Given the description of an element on the screen output the (x, y) to click on. 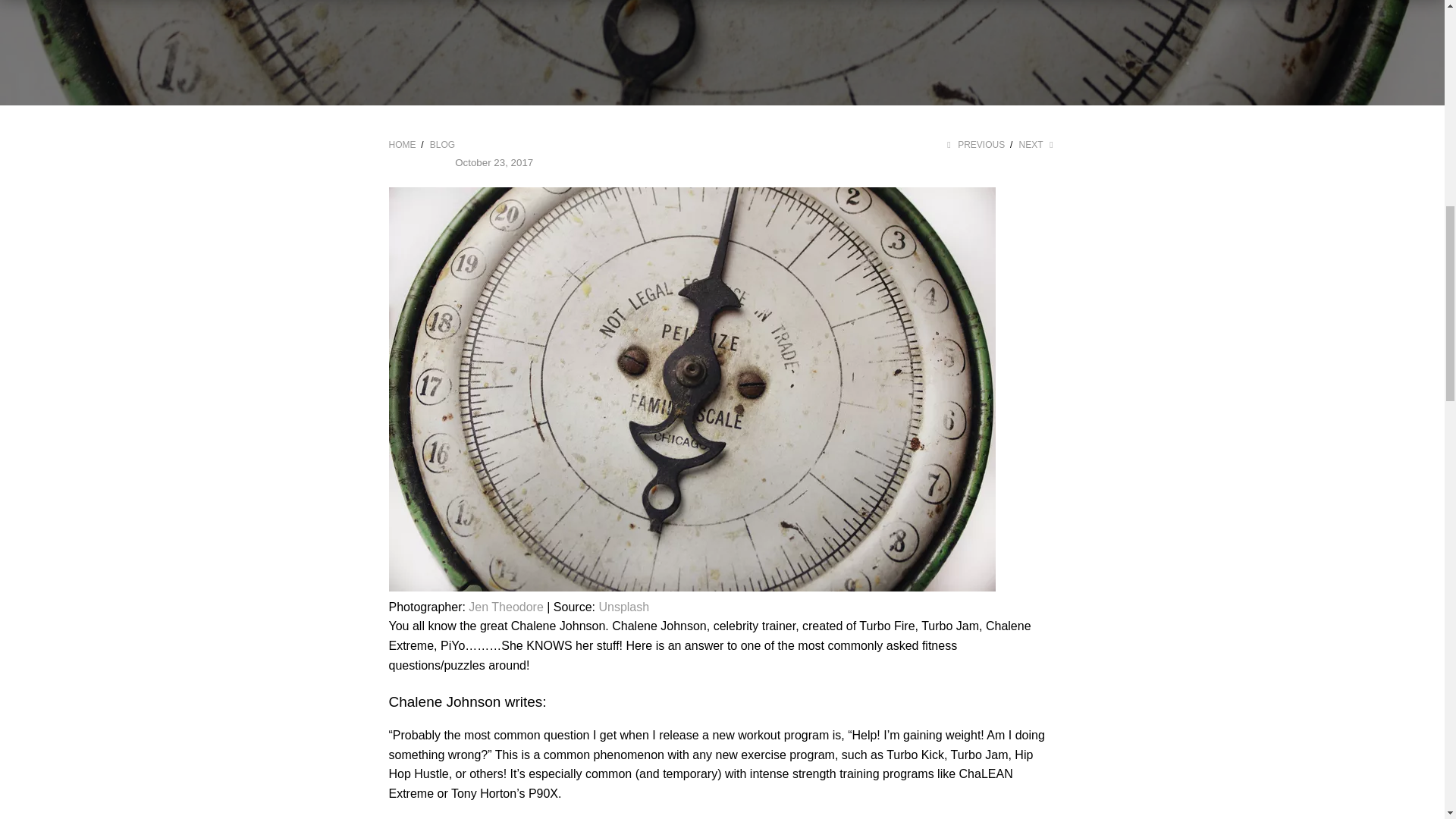
Blog (441, 144)
fit2shine (401, 144)
